Given the description of an element on the screen output the (x, y) to click on. 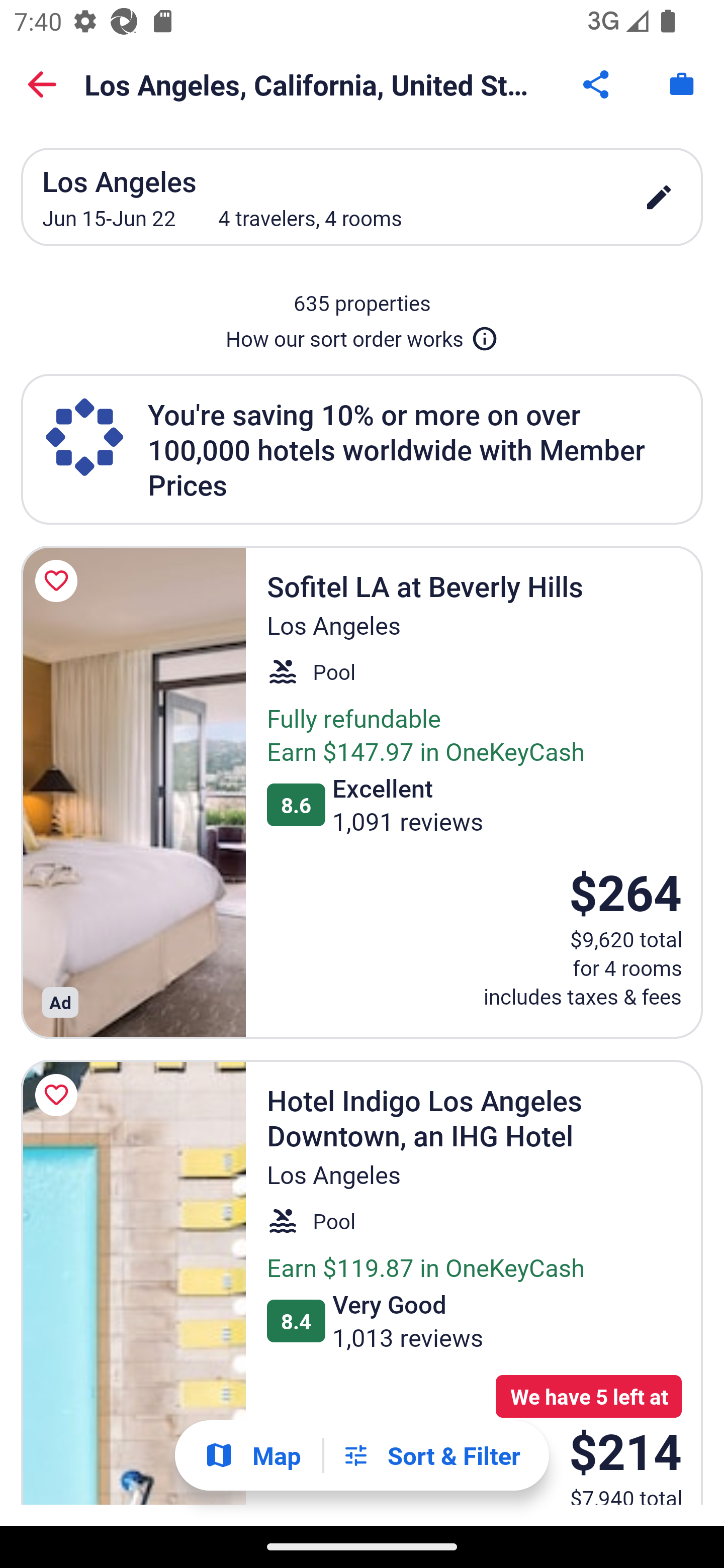
Back (42, 84)
Share Button (597, 84)
Trips. Button (681, 84)
How our sort order works (361, 334)
Save Sofitel LA at Beverly Hills to a trip (59, 580)
Sofitel LA at Beverly Hills (133, 791)
Hotel Indigo Los Angeles Downtown, an IHG Hotel (133, 1282)
Filters Sort & Filter Filters Button (430, 1455)
Show map Map Show map Button (252, 1455)
